Given the description of an element on the screen output the (x, y) to click on. 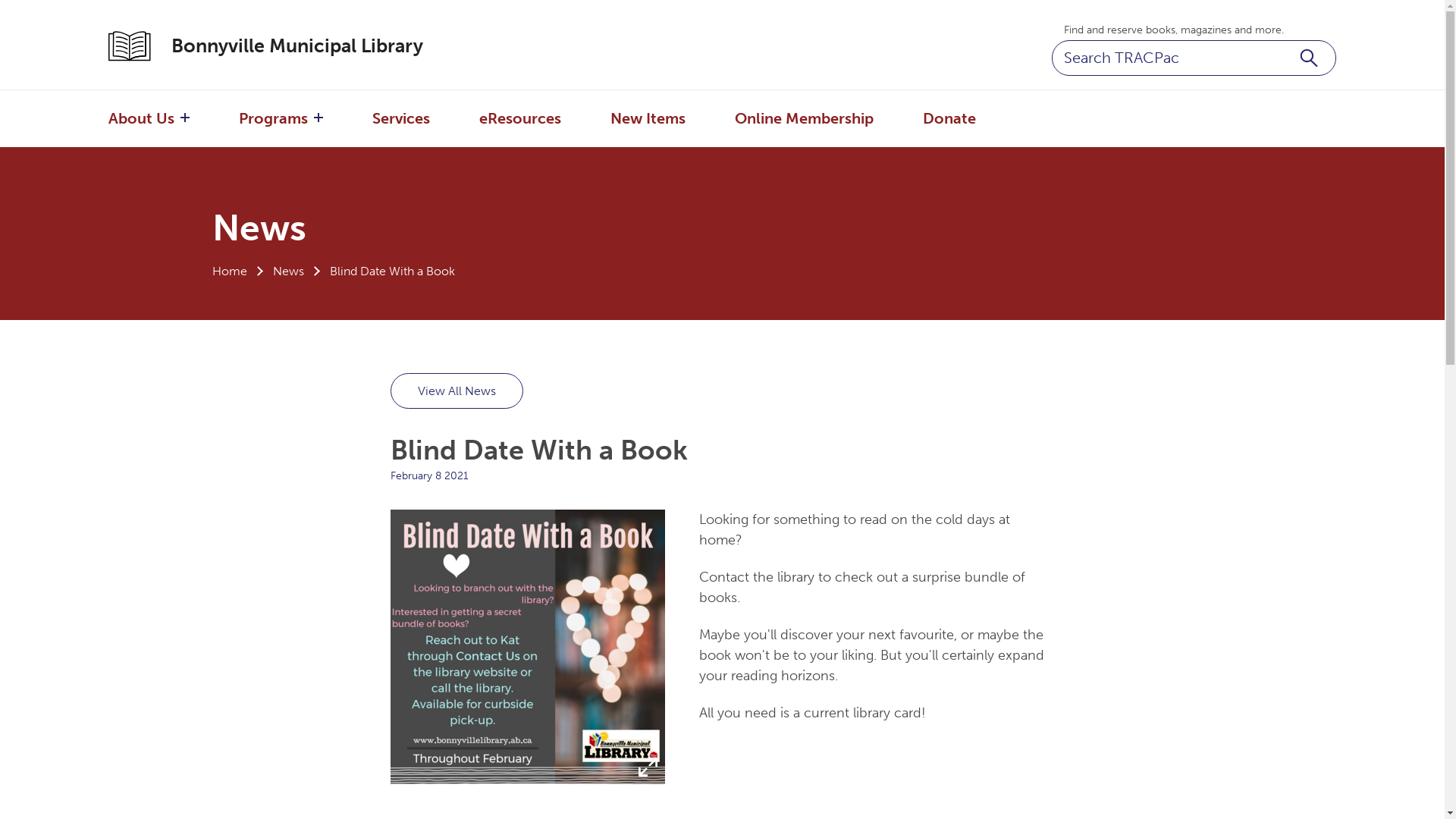
Bonnyville Municipal Library Element type: text (280, 46)
eResources Element type: text (520, 118)
Programs Element type: text (272, 118)
Donate Element type: text (948, 118)
About Us Element type: text (141, 118)
Online Membership Element type: text (803, 118)
Home Element type: text (229, 270)
News Element type: text (288, 270)
View All News Element type: text (456, 390)
New Items Element type: text (647, 118)
Services Element type: text (400, 118)
